Given the description of an element on the screen output the (x, y) to click on. 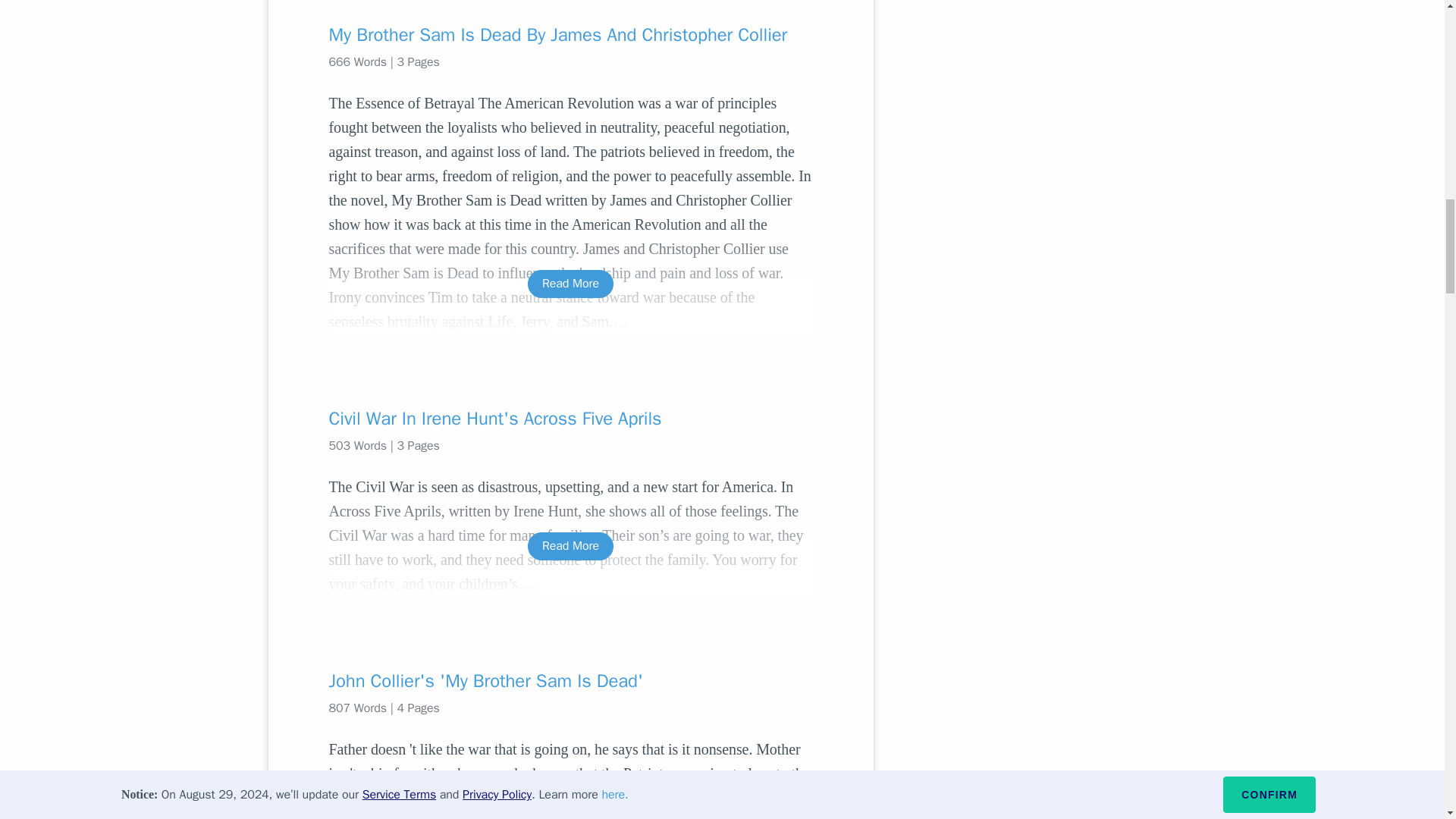
John Collier's 'My Brother Sam Is Dead' (570, 680)
My Brother Sam Is Dead By James And Christopher Collier (570, 34)
Civil War In Irene Hunt's Across Five Aprils (570, 418)
Read More (569, 546)
Read More (569, 284)
